Given the description of an element on the screen output the (x, y) to click on. 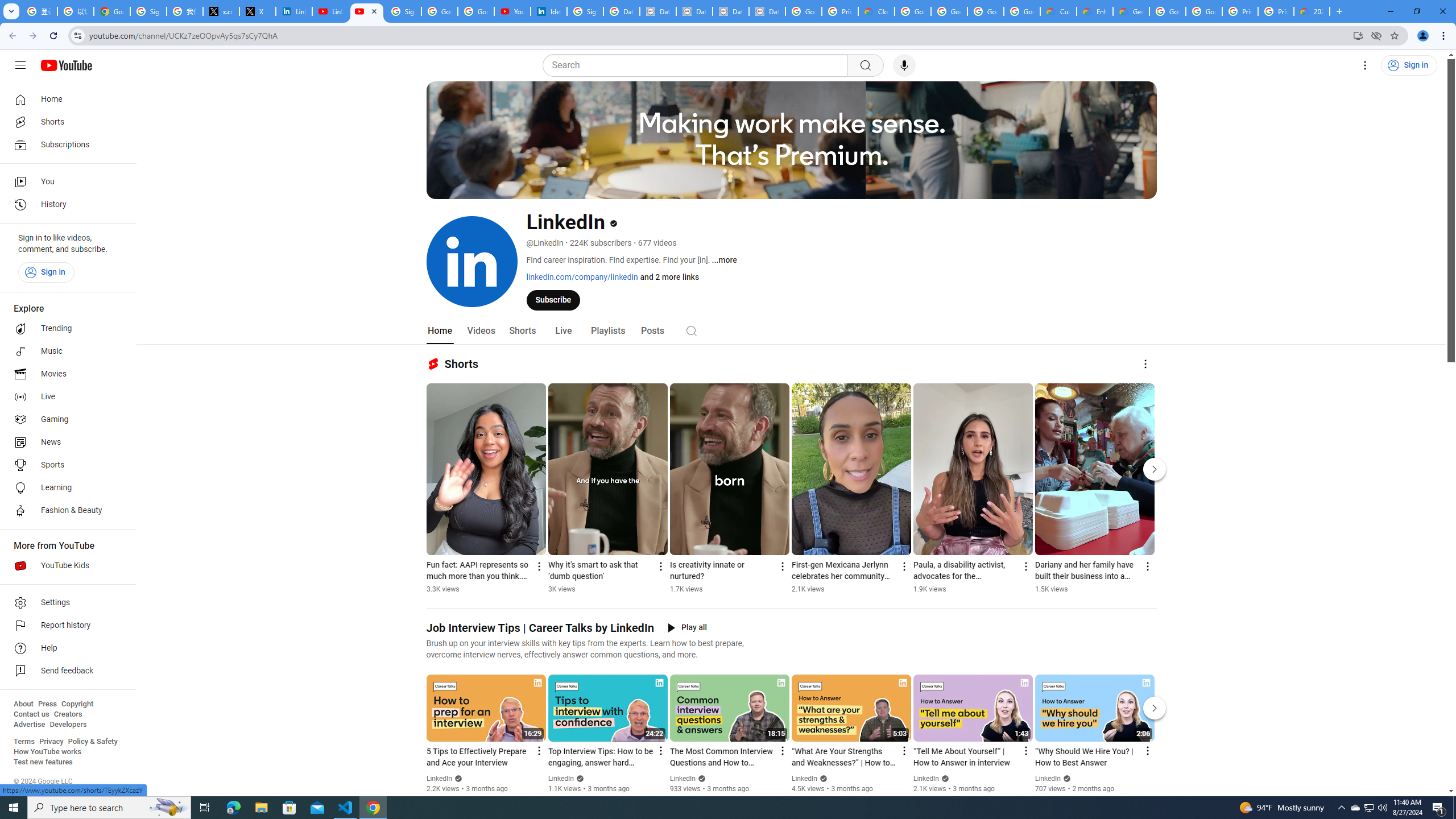
Live (562, 330)
Shorts (521, 330)
Music (64, 350)
LinkedIn (1048, 778)
Data Privacy Framework (694, 11)
Install YouTube (1358, 35)
Guide (20, 65)
Help (64, 648)
